Given the description of an element on the screen output the (x, y) to click on. 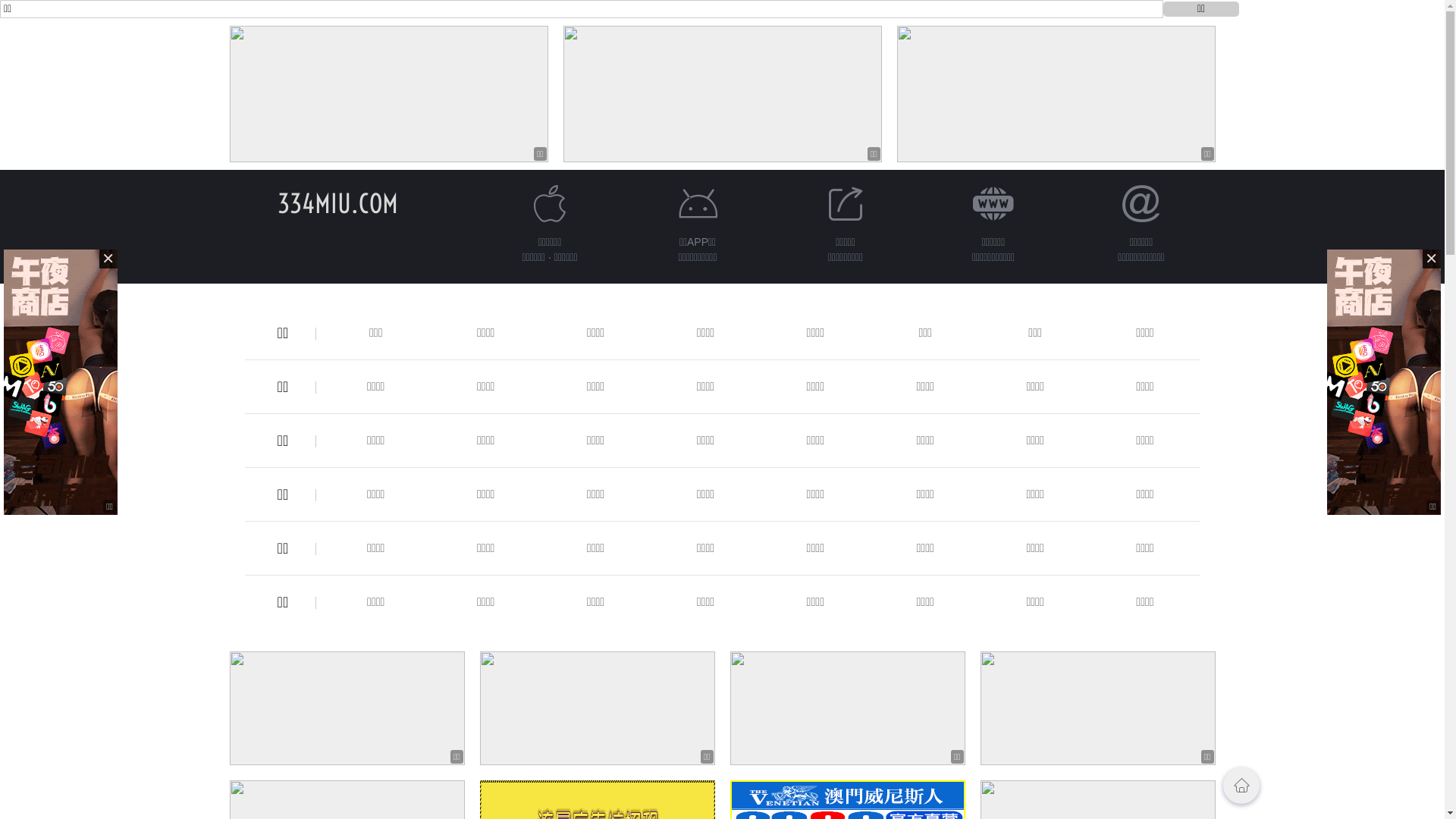
334MIU.COM Element type: text (337, 203)
